Given the description of an element on the screen output the (x, y) to click on. 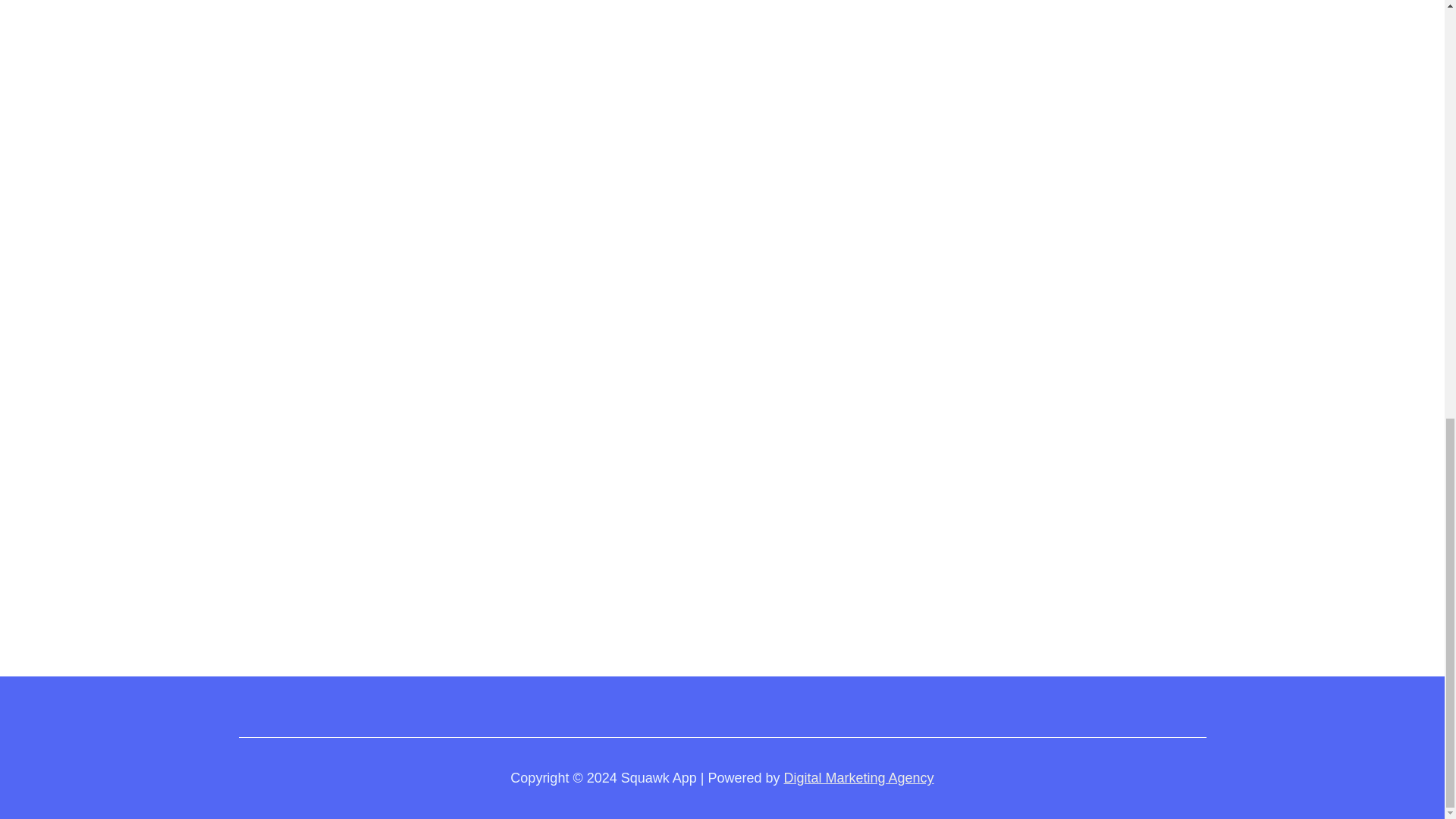
Post Comment (312, 535)
Digital Marketing Agency (859, 777)
